Given the description of an element on the screen output the (x, y) to click on. 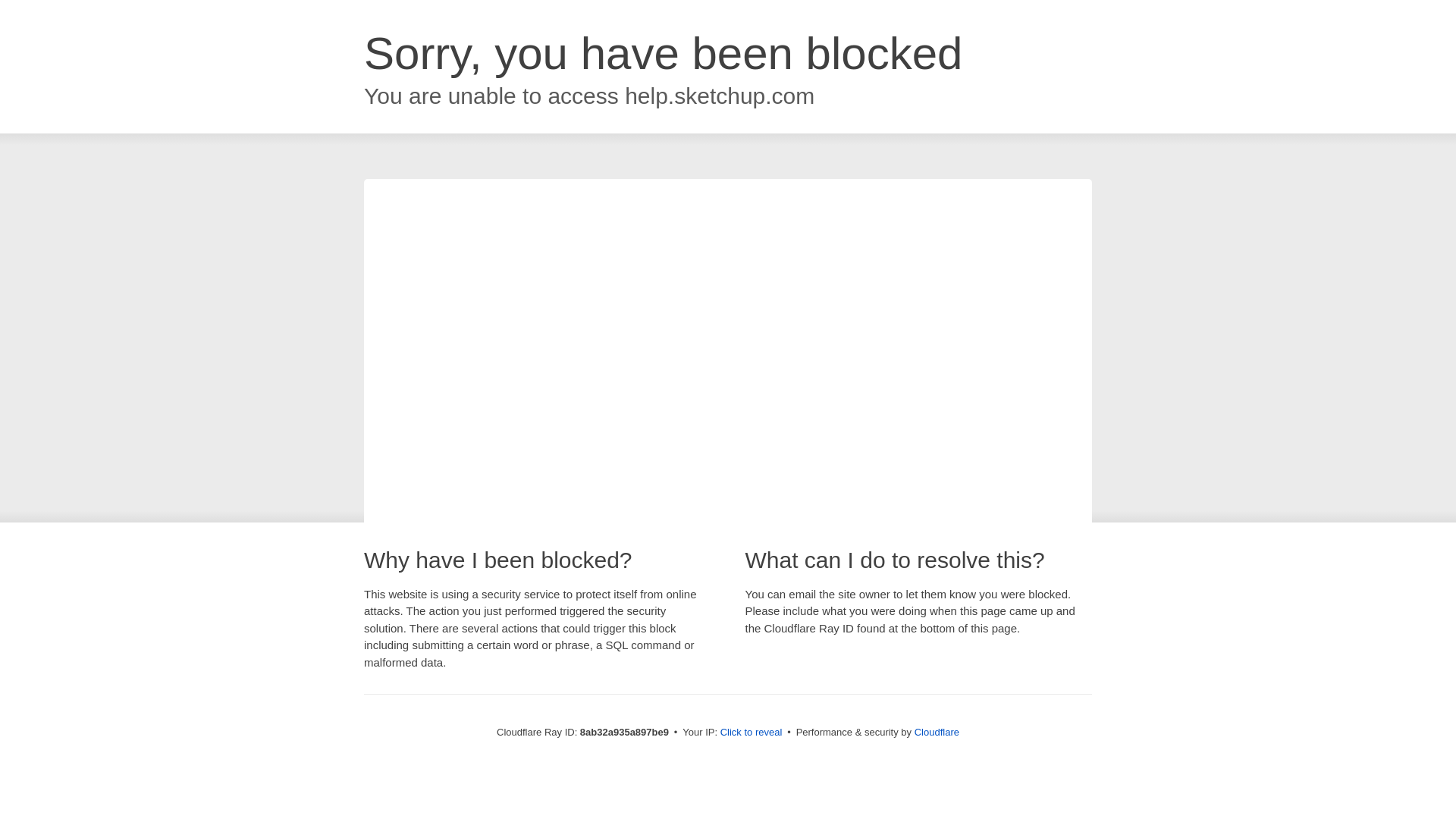
Click to reveal (751, 732)
Cloudflare (936, 731)
